Given the description of an element on the screen output the (x, y) to click on. 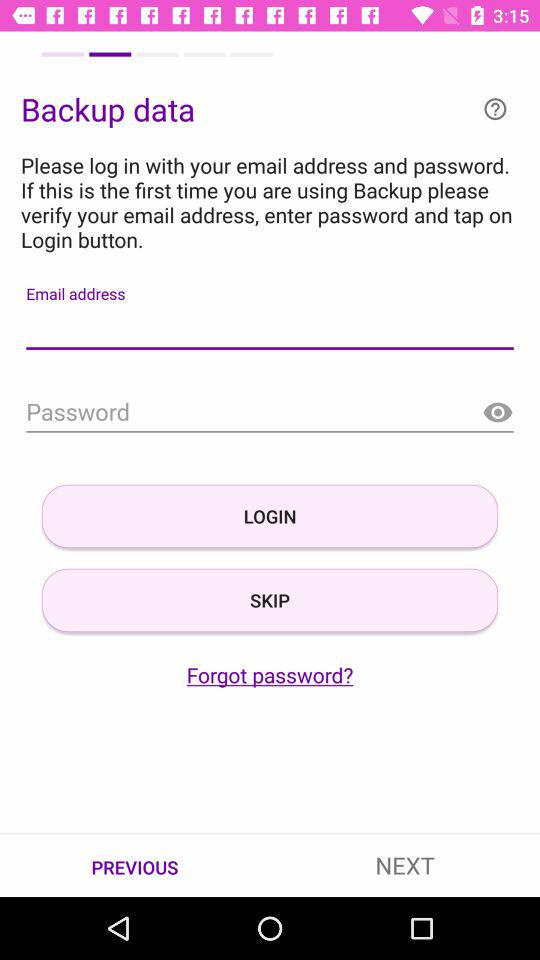
blank space (270, 328)
